Given the description of an element on the screen output the (x, y) to click on. 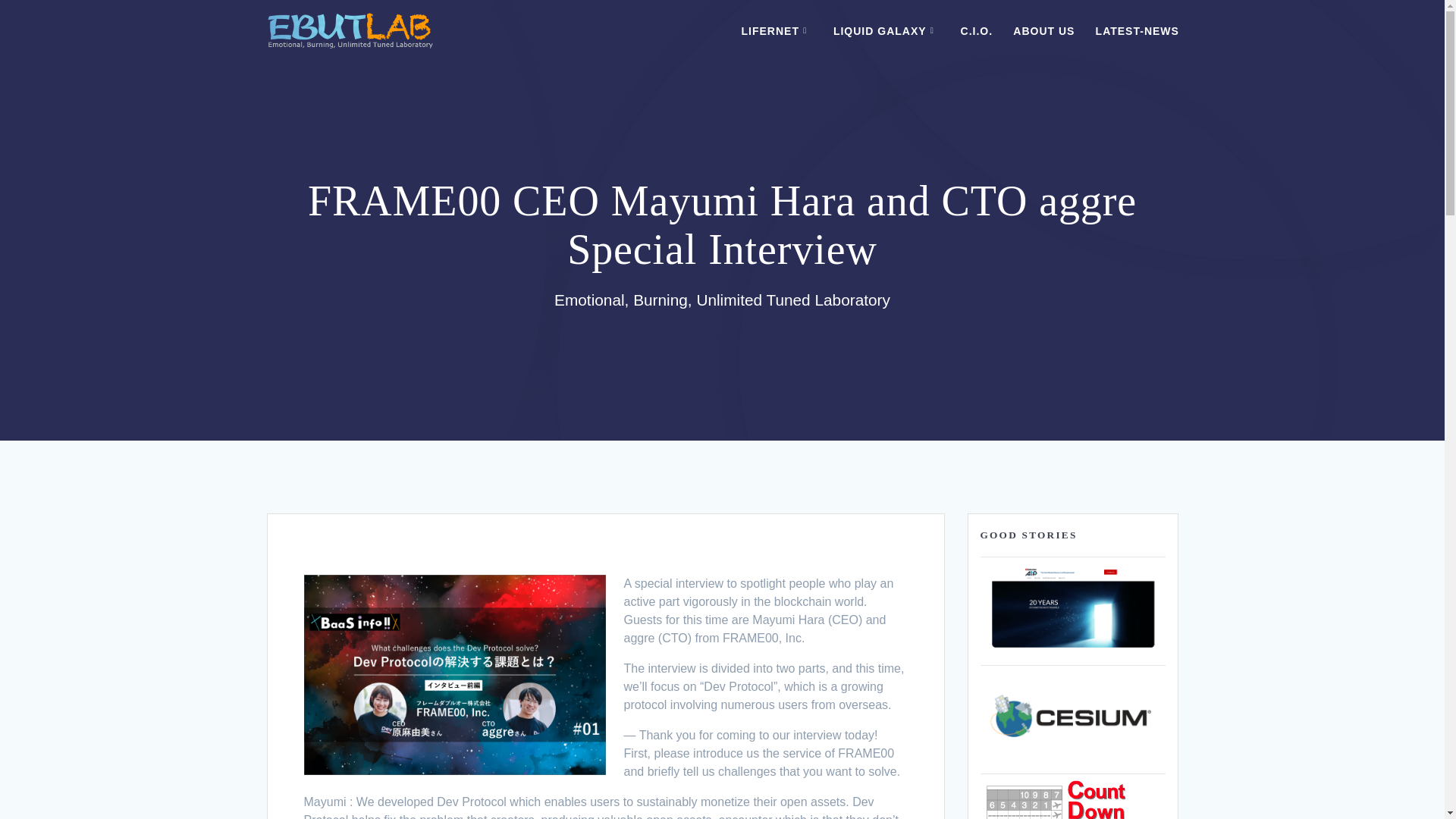
The world of Cesium (1071, 757)
: A Starter of World Wide Research. (1071, 608)
: A Count Down service via email (1068, 799)
LATEST-NEWS (1137, 30)
: A Starter of World Wide Research. (1071, 649)
The world of Cesium (1071, 716)
LIFERNET (776, 30)
LIQUID GALAXY (885, 30)
C.I.O. (976, 30)
ABOUT US (1043, 30)
